Given the description of an element on the screen output the (x, y) to click on. 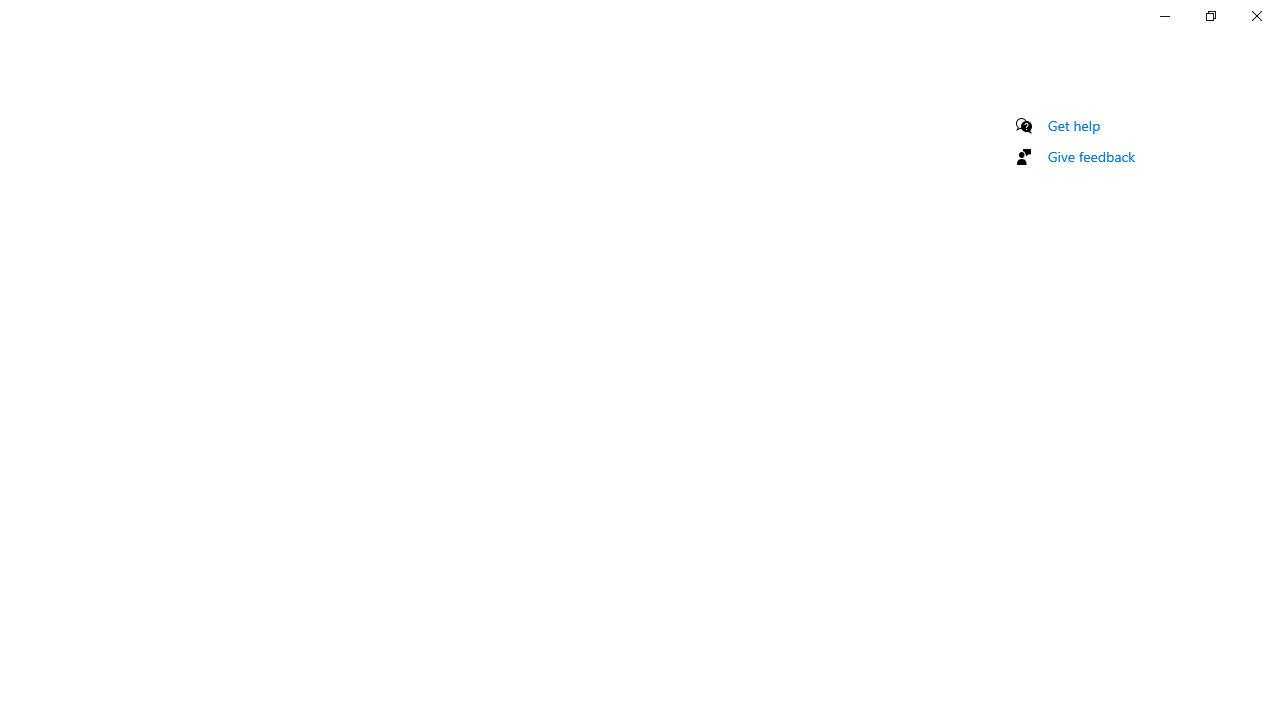
Give feedback (1091, 156)
Get help (1074, 125)
Close Settings (1256, 15)
Restore Settings (1210, 15)
Minimize Settings (1164, 15)
